Given the description of an element on the screen output the (x, y) to click on. 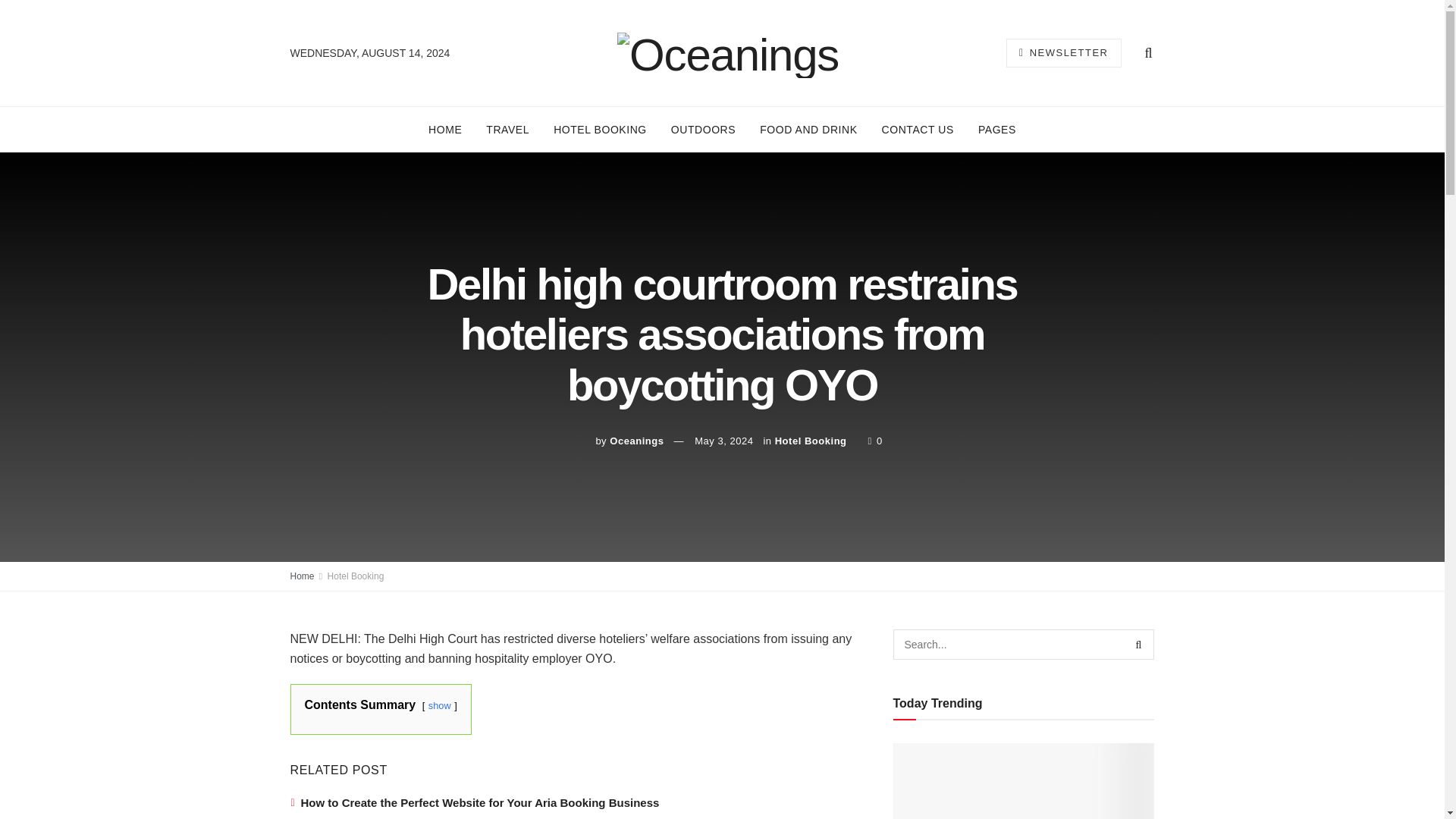
HOTEL BOOKING (600, 129)
FOOD AND DRINK (808, 129)
TRAVEL (507, 129)
HOME (445, 129)
PAGES (996, 129)
CONTACT US (917, 129)
NEWSLETTER (1063, 52)
OUTDOORS (703, 129)
